Given the description of an element on the screen output the (x, y) to click on. 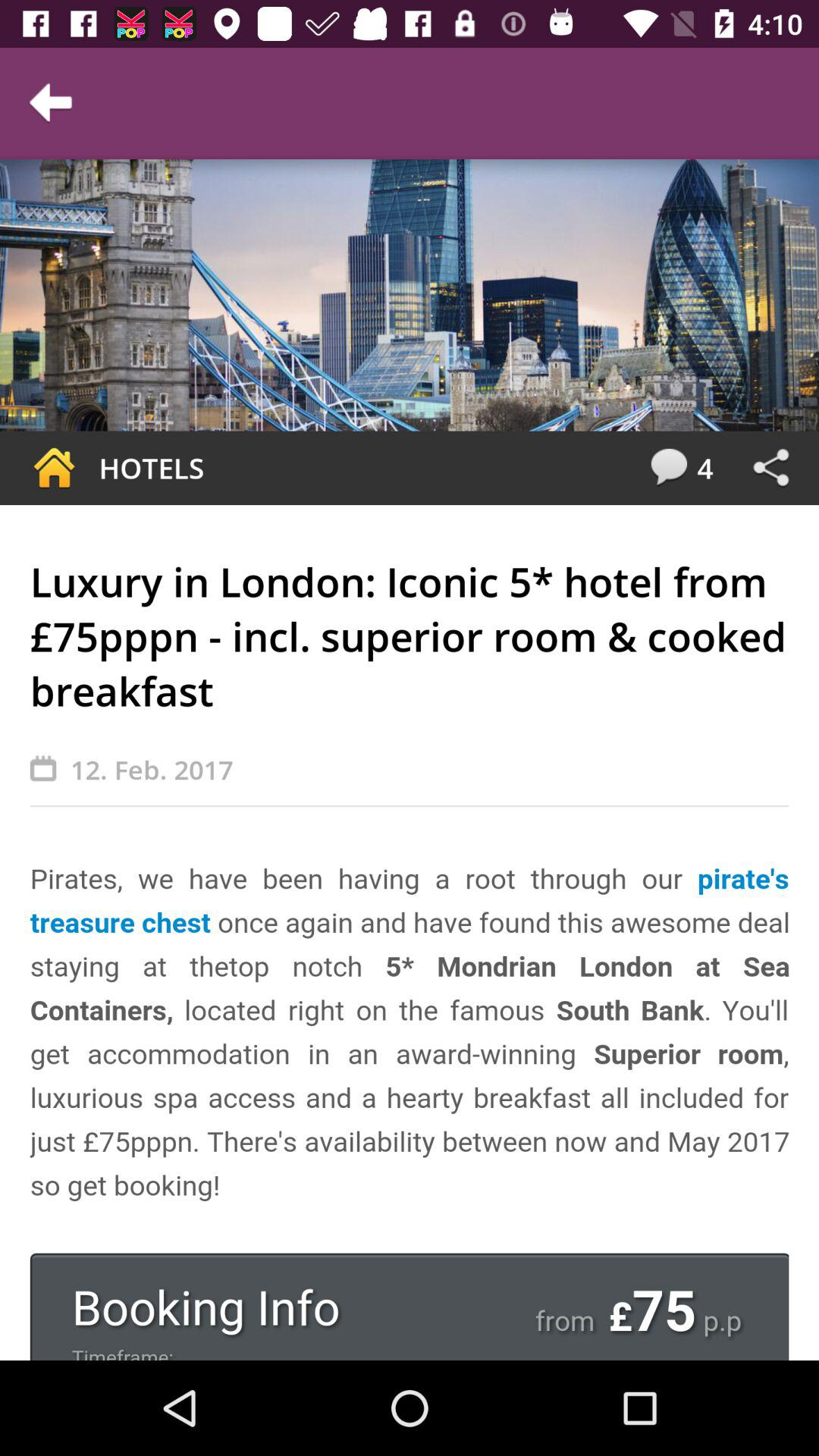
links (770, 468)
